Given the description of an element on the screen output the (x, y) to click on. 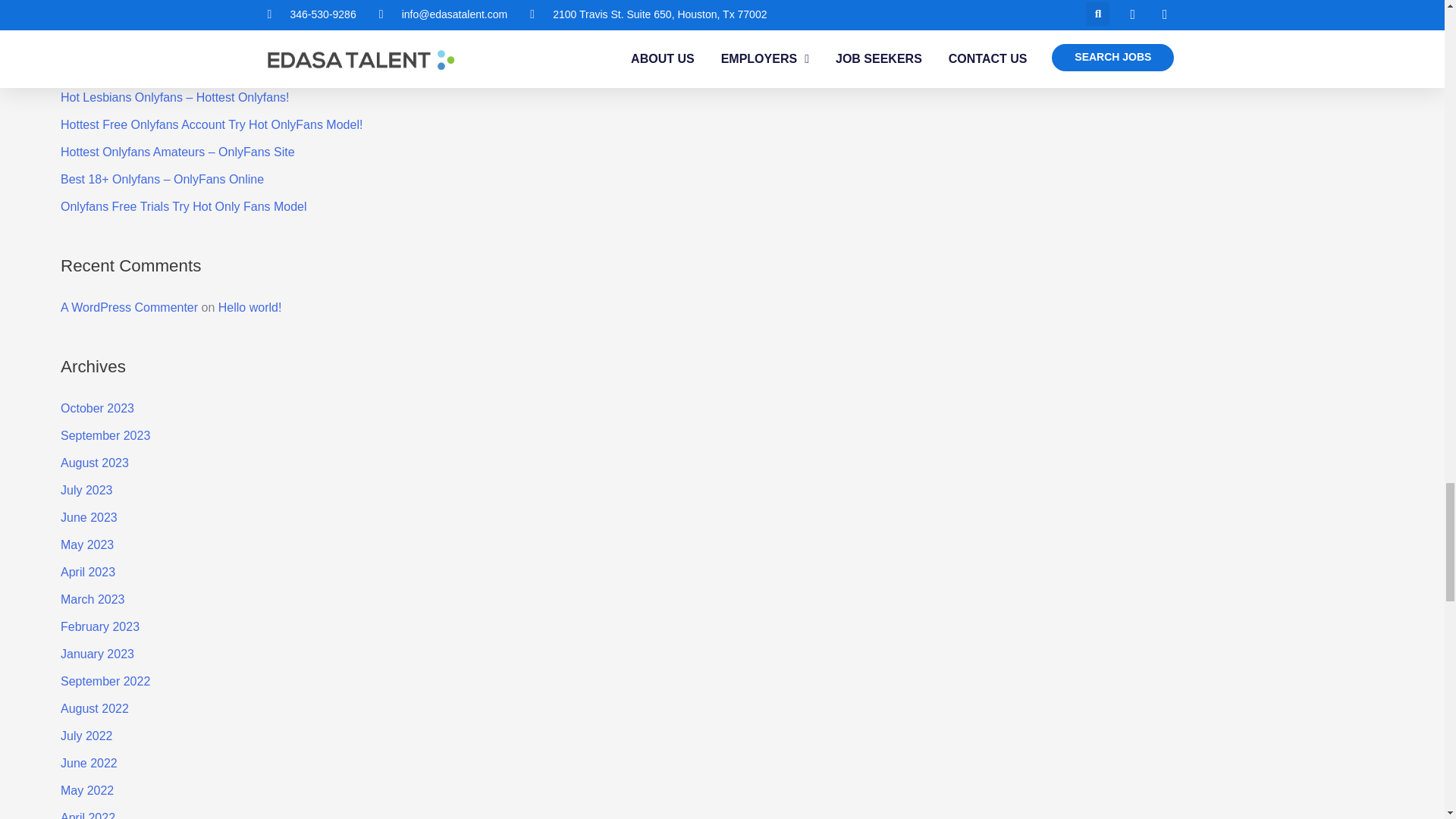
Search (1411, 6)
Search (1411, 6)
